Given the description of an element on the screen output the (x, y) to click on. 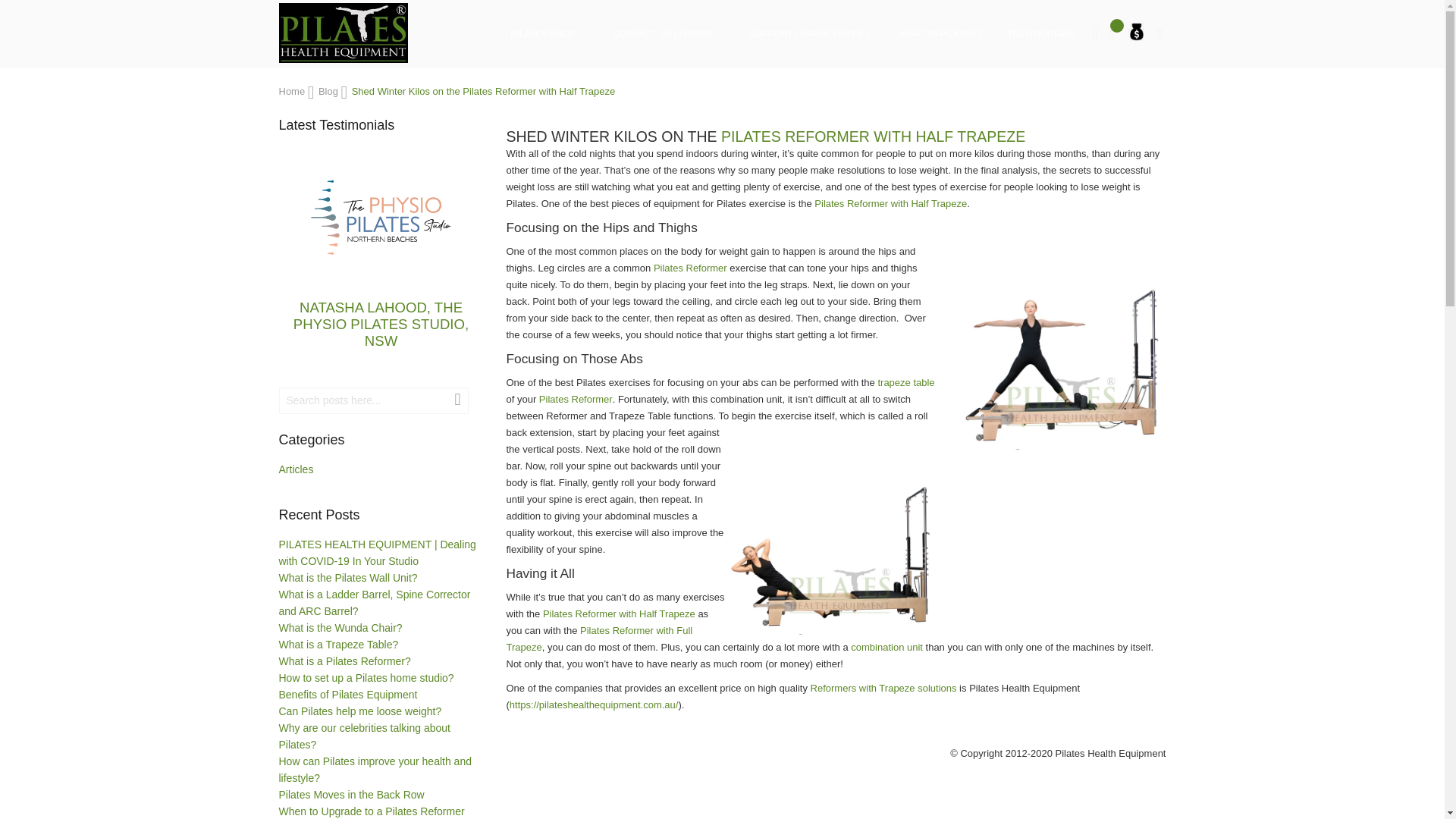
Go to Home Page (293, 91)
My Quote (1135, 29)
NATASHA LAHOOD, THE PHYSIO PILATES STUDIO, NSW (380, 218)
NATASHA LAHOOD, THE PHYSIO PILATES STUDIO, NSW (381, 323)
Go to Blog Home Page (329, 91)
PILATES SHOP (553, 33)
NATASHA LAHOOD, THE PHYSIO PILATES STUDIO, NSW (380, 219)
